Given the description of an element on the screen output the (x, y) to click on. 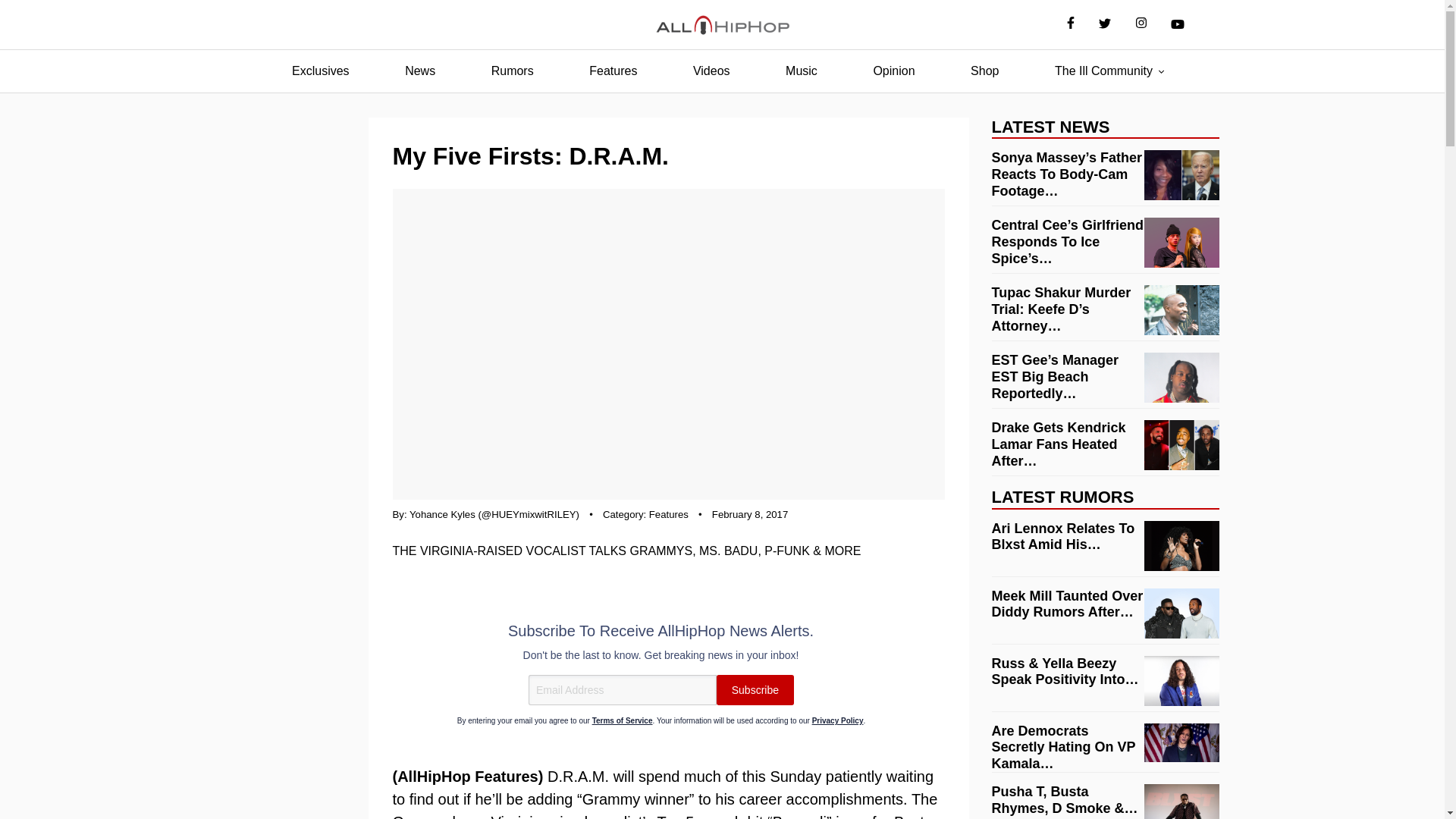
Rumors (512, 70)
February 8, 2017 (749, 514)
AllHipHop (722, 25)
Shop (984, 70)
News (419, 70)
Opinion (893, 70)
The Ill Community (1103, 70)
Features (612, 70)
Exclusives (320, 70)
Music (801, 70)
Features (668, 514)
Videos (711, 70)
